Given the description of an element on the screen output the (x, y) to click on. 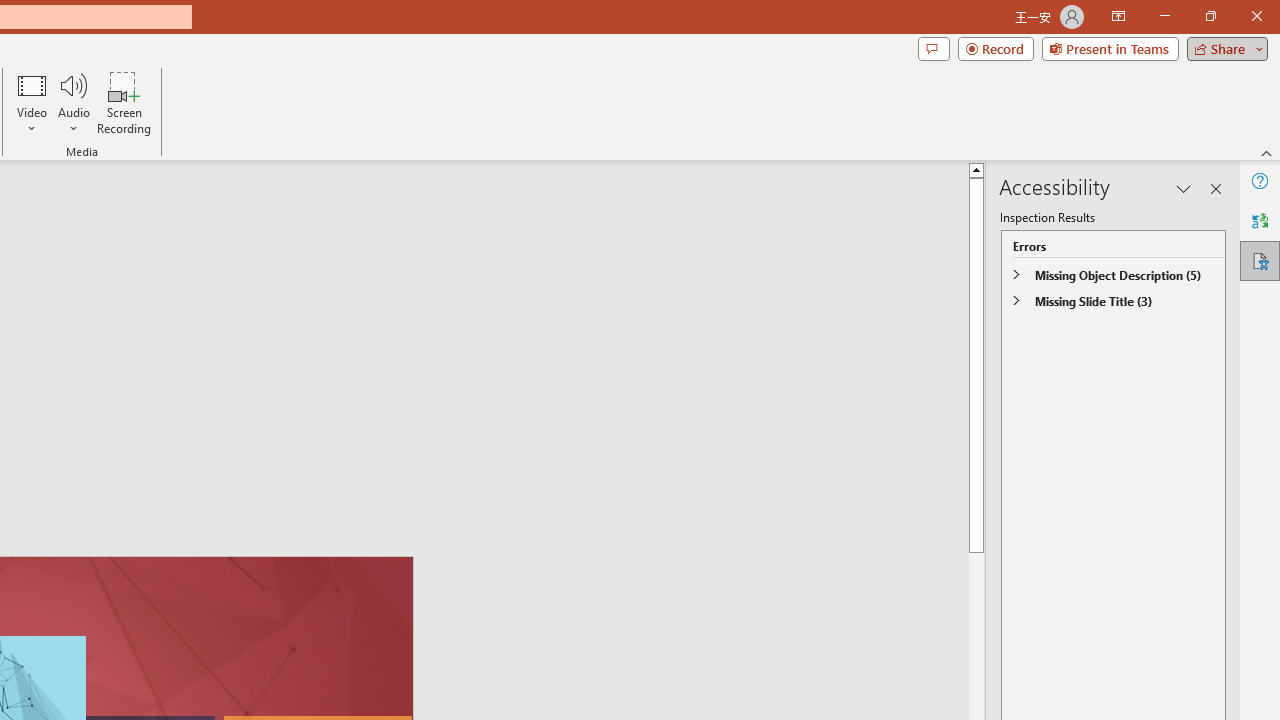
Video (31, 102)
